Given the description of an element on the screen output the (x, y) to click on. 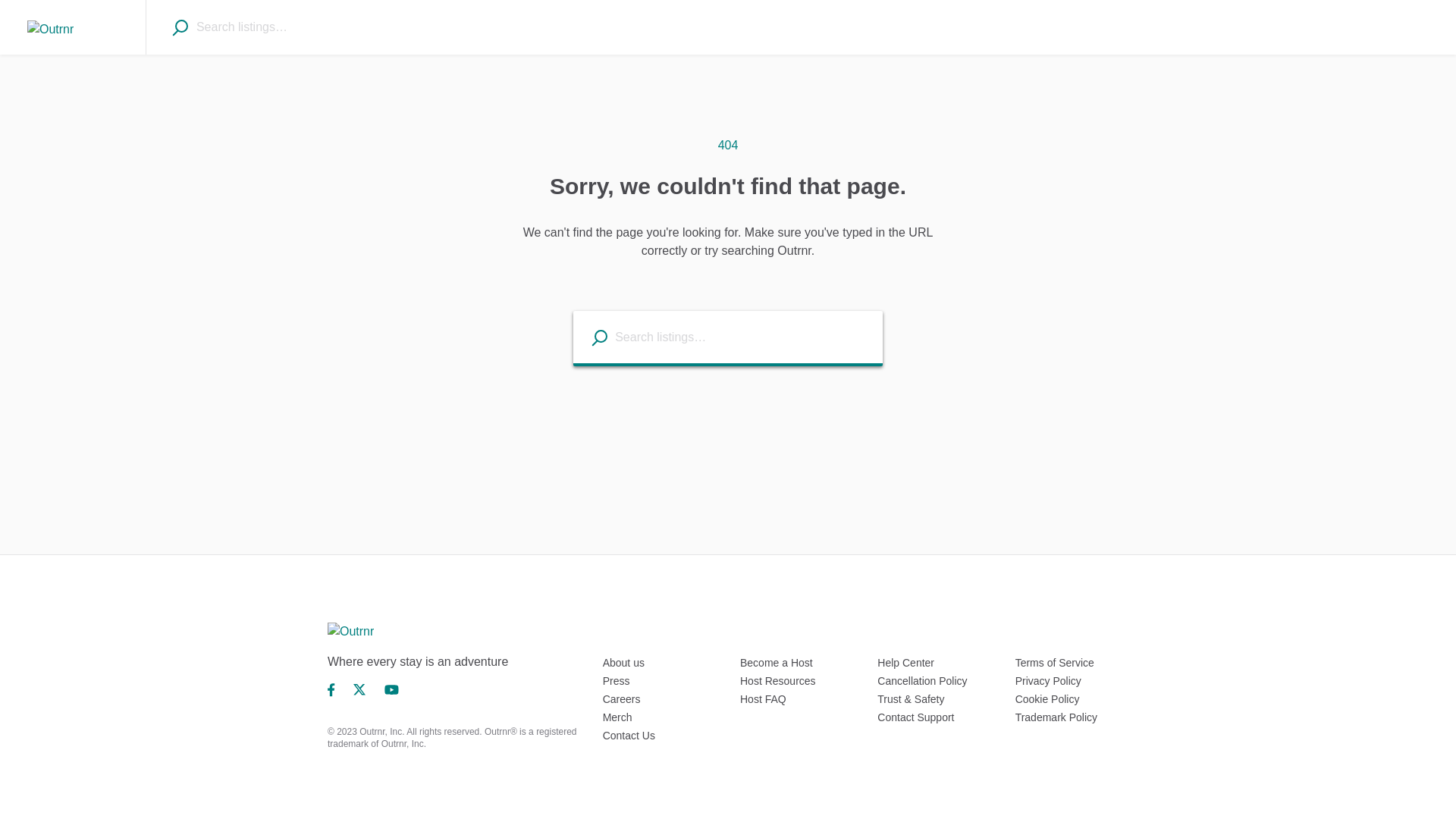
Terms of Service (1054, 662)
Press (616, 680)
Help Center (905, 662)
Careers (621, 698)
Cancellation Policy (921, 680)
Host FAQ (762, 698)
Privacy Policy (1047, 680)
Merch (616, 717)
Contact Us (628, 735)
Host Resources (777, 680)
About us (623, 662)
Trademark Policy (1055, 717)
Contact Support (915, 717)
Become a Host (775, 662)
YouTube (391, 688)
